Given the description of an element on the screen output the (x, y) to click on. 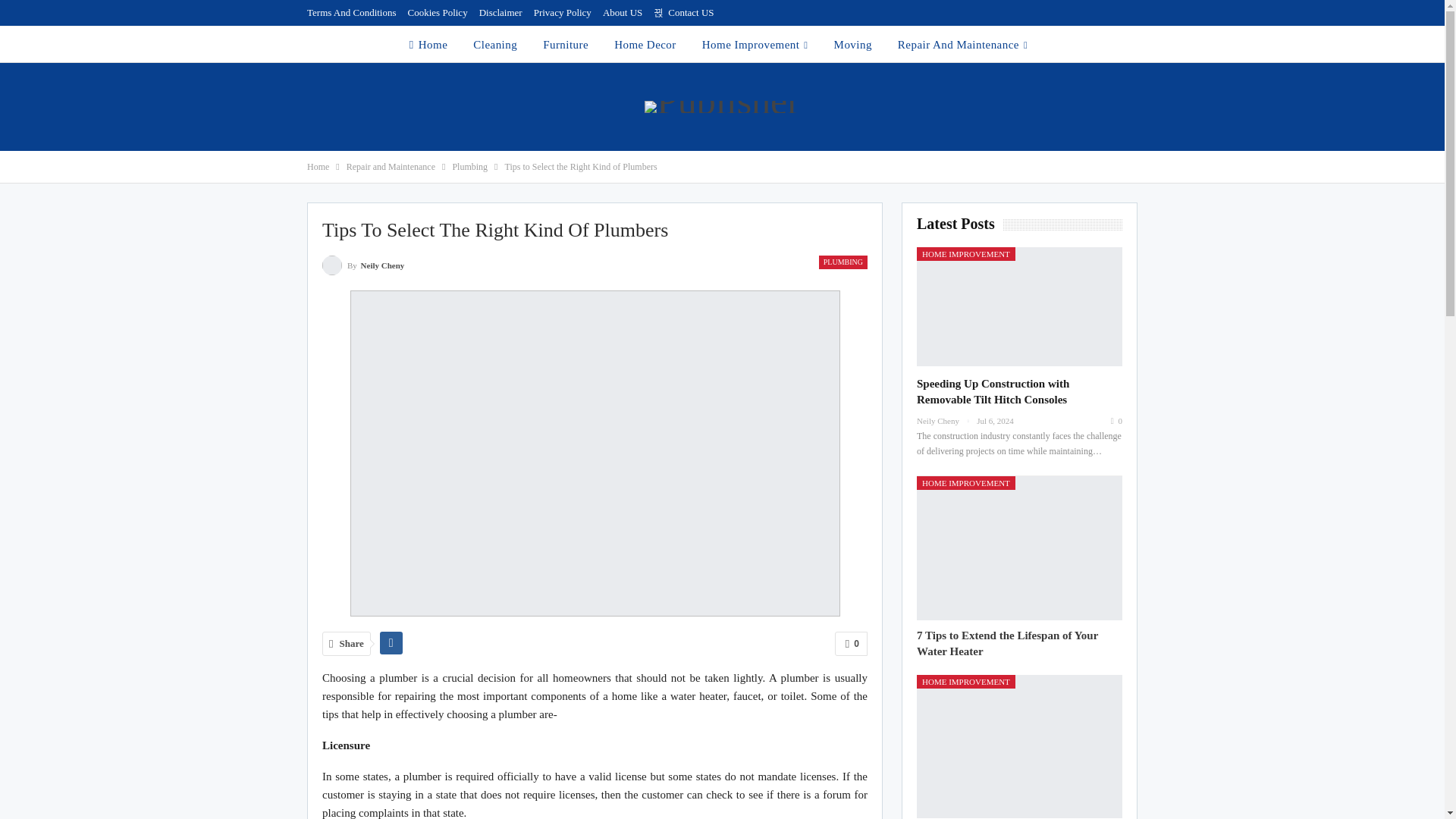
Furniture (565, 44)
Repair And Maintenance (962, 44)
Home (428, 44)
Cleaning (494, 44)
Home Improvement (754, 44)
Terms And Conditions (351, 12)
Home Decor (645, 44)
By Neily Cheny (362, 264)
Disclaimer (500, 12)
Home (318, 166)
Repair and Maintenance (390, 166)
Privacy Policy (562, 12)
Contact US (683, 12)
PLUMBING (842, 262)
Browse Author Articles (362, 264)
